Given the description of an element on the screen output the (x, y) to click on. 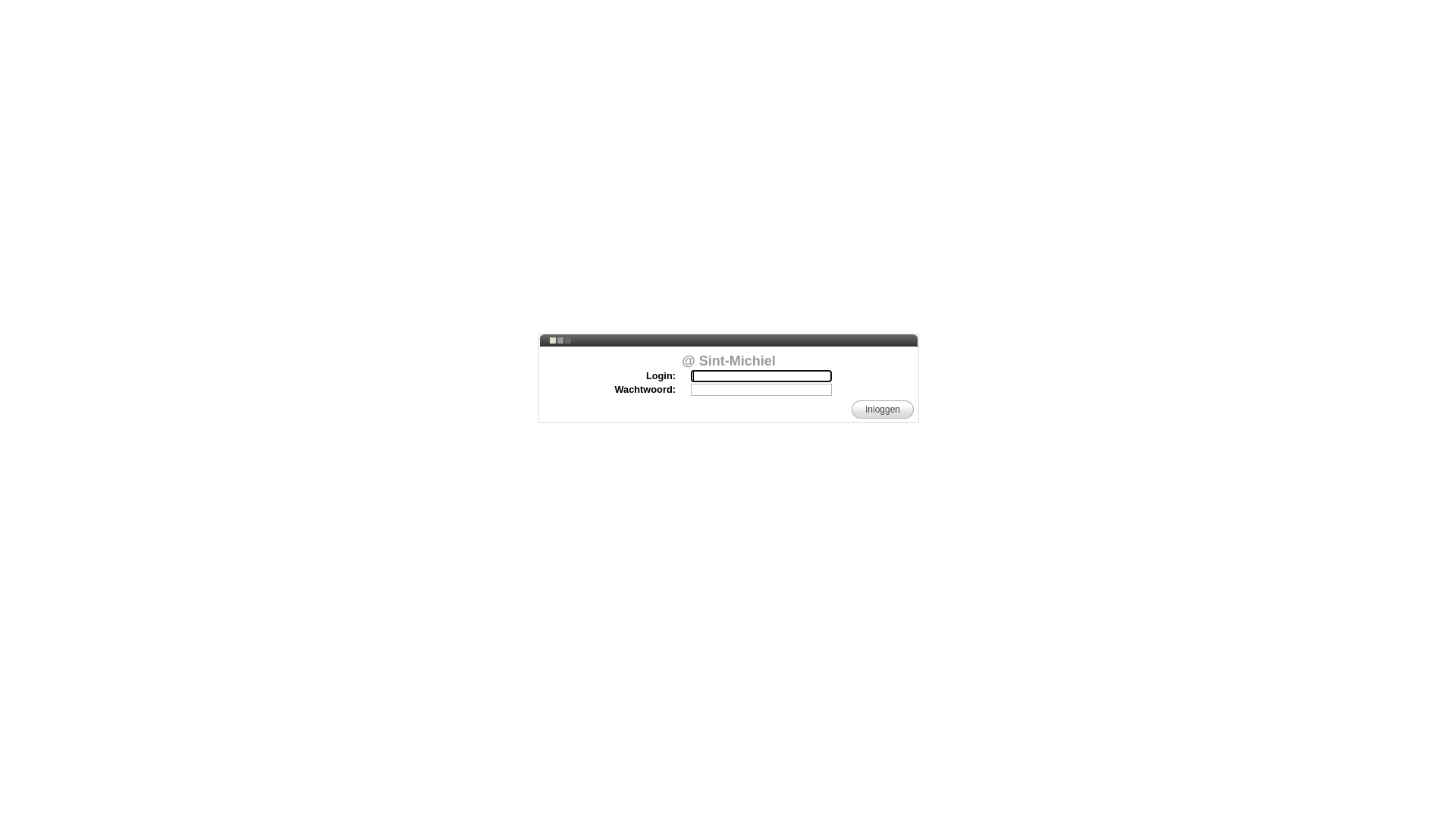
Inloggen Element type: text (882, 409)
